Given the description of an element on the screen output the (x, y) to click on. 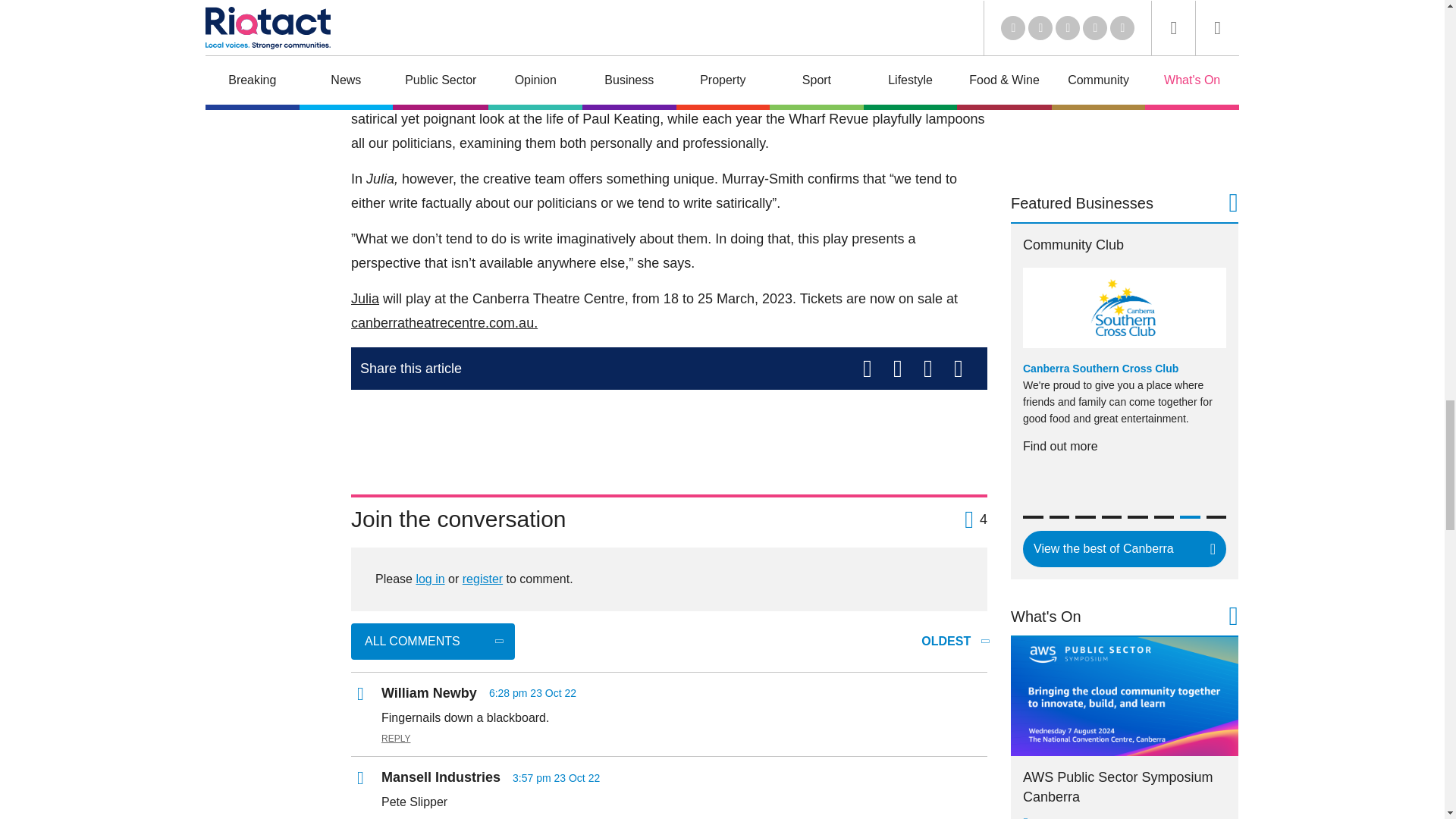
3rd party ad content (1124, 83)
